Given the description of an element on the screen output the (x, y) to click on. 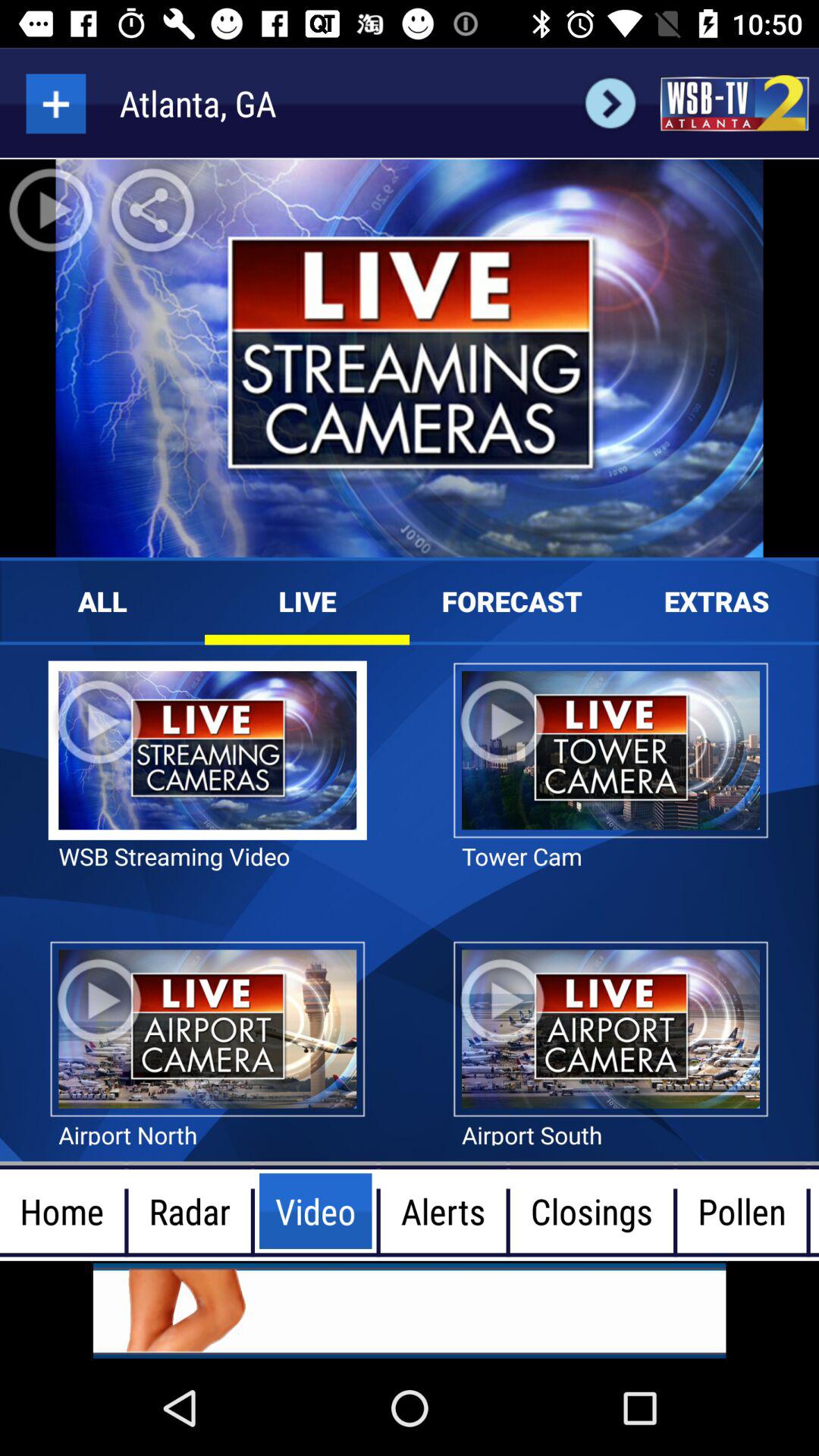
wsb-tv 2 button (734, 103)
